Given the description of an element on the screen output the (x, y) to click on. 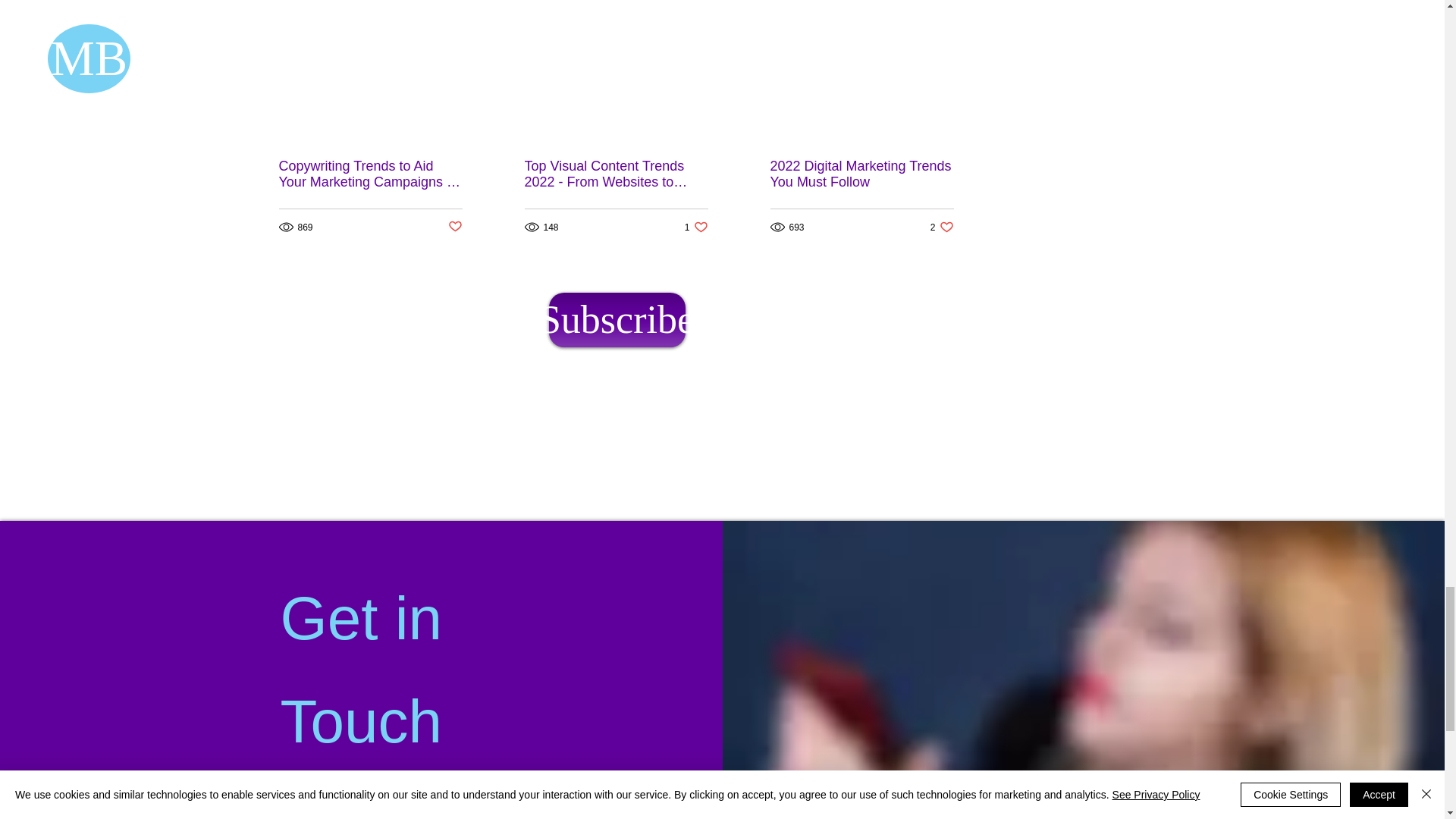
See All (957, 0)
2022 Digital Marketing Trends You Must Follow (861, 174)
Copywriting Trends to Aid Your Marketing Campaigns in 2022 (695, 227)
Post not marked as liked (371, 174)
